Given the description of an element on the screen output the (x, y) to click on. 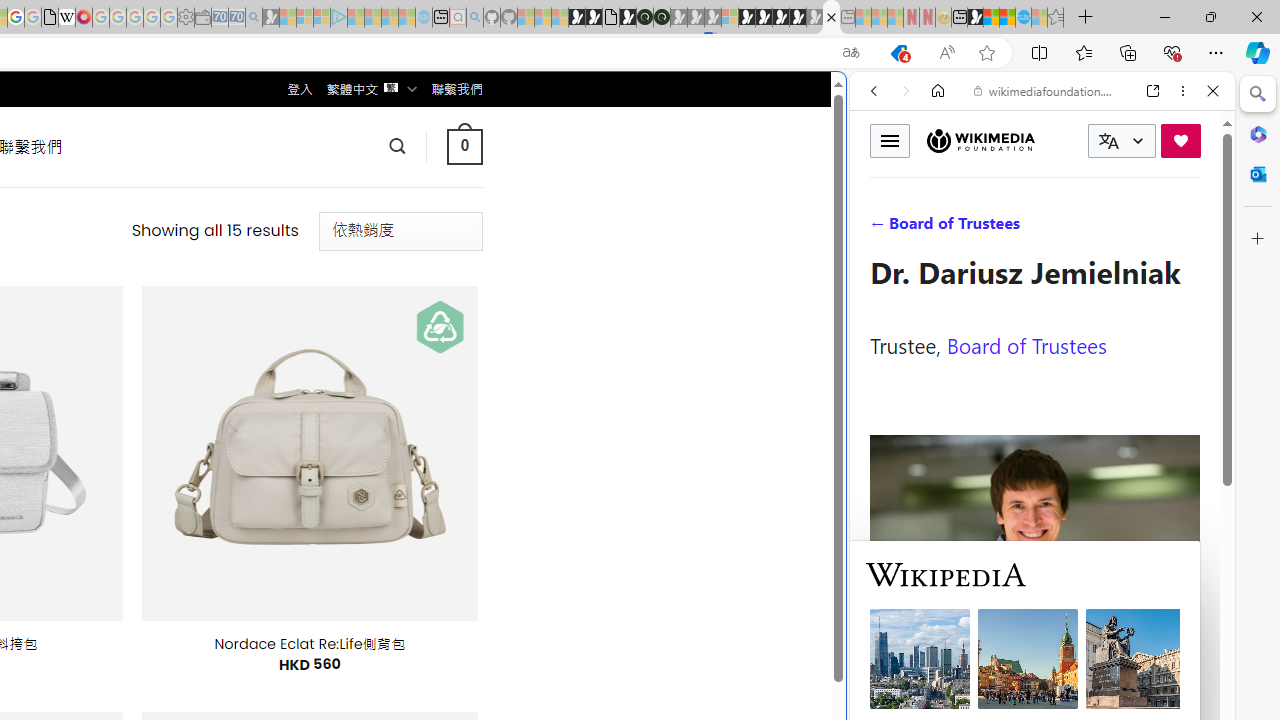
Class: i icon icon-translate language-switcher__icon (1108, 141)
MSN (975, 17)
This site scope (936, 180)
Frequently visited (418, 265)
Tabs you've opened (276, 265)
Search Filter, IMAGES (939, 228)
VIDEOS (1006, 228)
